Given the description of an element on the screen output the (x, y) to click on. 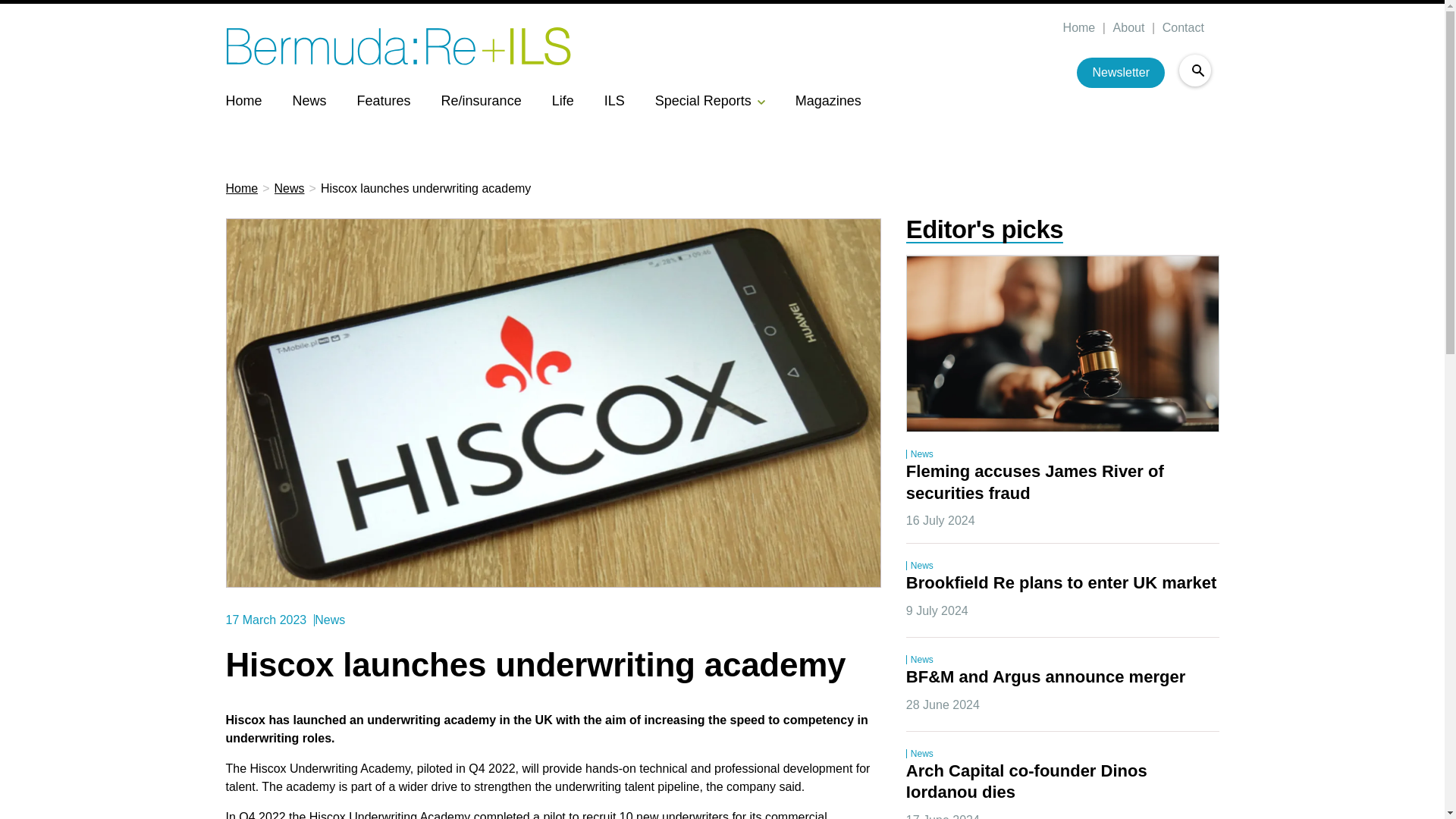
Magazines (827, 100)
News (289, 188)
About (1126, 28)
Life (562, 100)
ILS (614, 100)
Newsletter (1120, 72)
Home (1078, 28)
News (309, 100)
Contact (1181, 28)
Hiscox launches underwriting academy (425, 188)
Home (243, 100)
Home (242, 188)
Features (383, 100)
Brookfield Re plans to enter UK market (1061, 583)
Arch Capital co-founder Dinos Iordanou dies (1028, 782)
